Given the description of an element on the screen output the (x, y) to click on. 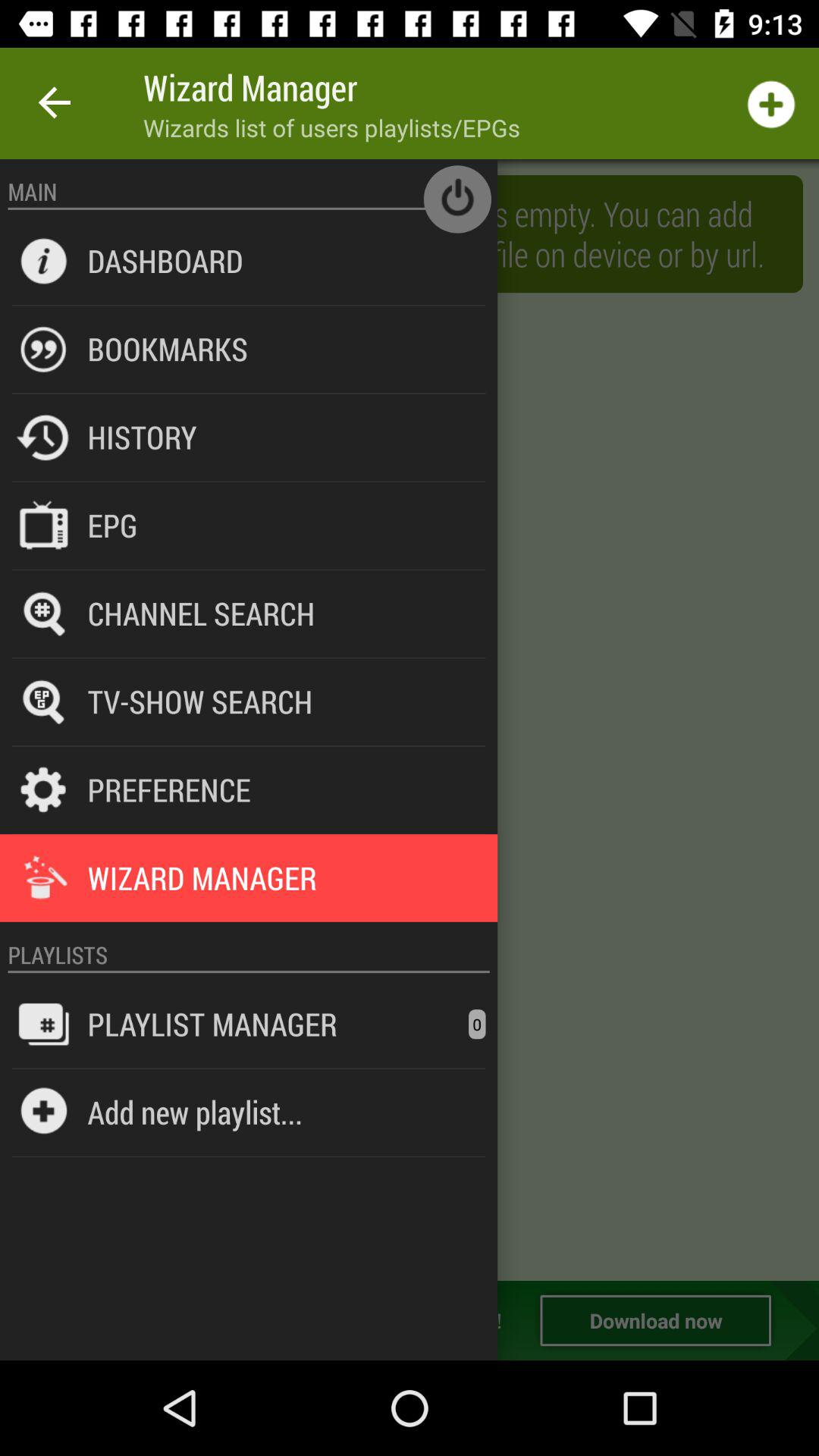
turn off the item above the playlists (248, 922)
